Given the description of an element on the screen output the (x, y) to click on. 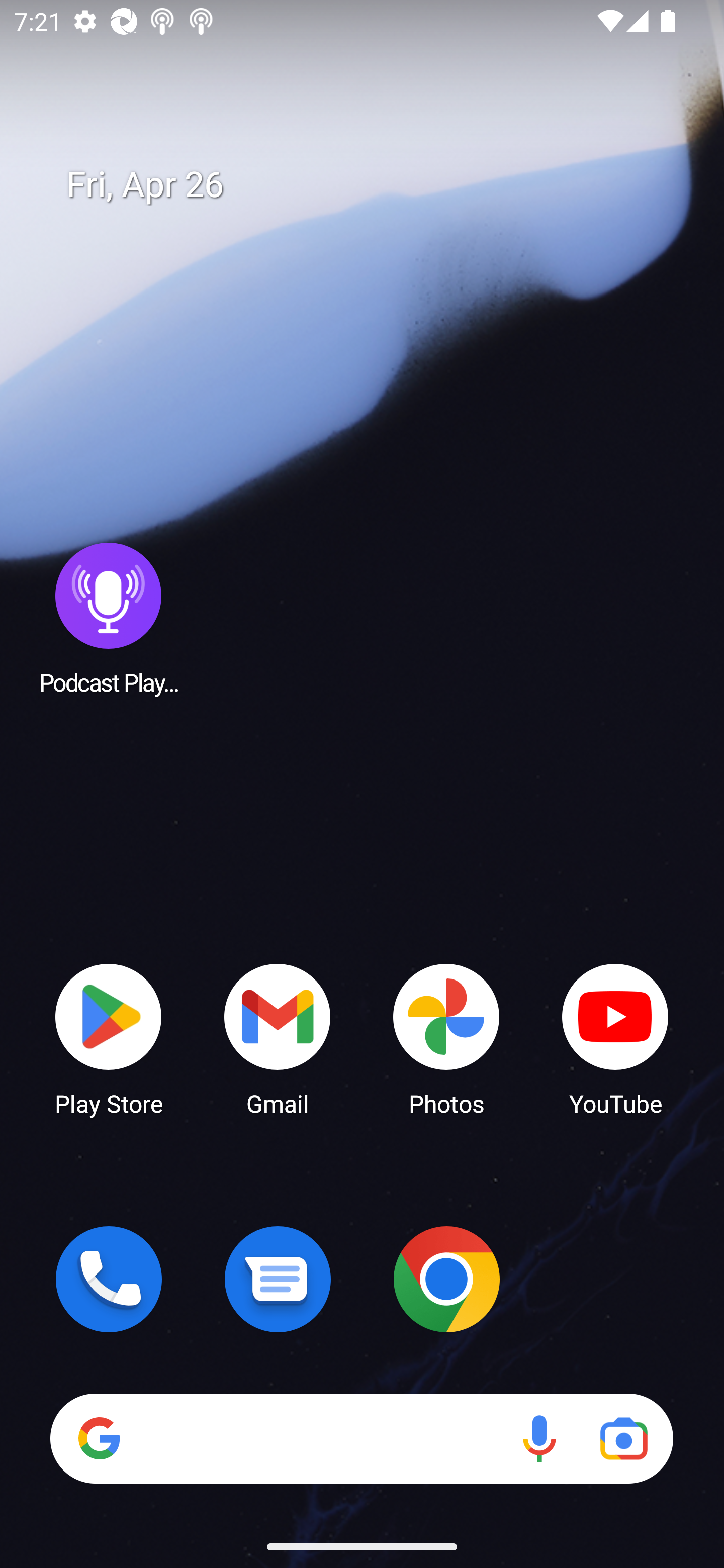
Fri, Apr 26 (375, 184)
Podcast Player (108, 617)
Play Store (108, 1038)
Gmail (277, 1038)
Photos (445, 1038)
YouTube (615, 1038)
Phone (108, 1279)
Messages (277, 1279)
Chrome (446, 1279)
Search Voice search Google Lens (361, 1438)
Voice search (539, 1438)
Google Lens (623, 1438)
